Given the description of an element on the screen output the (x, y) to click on. 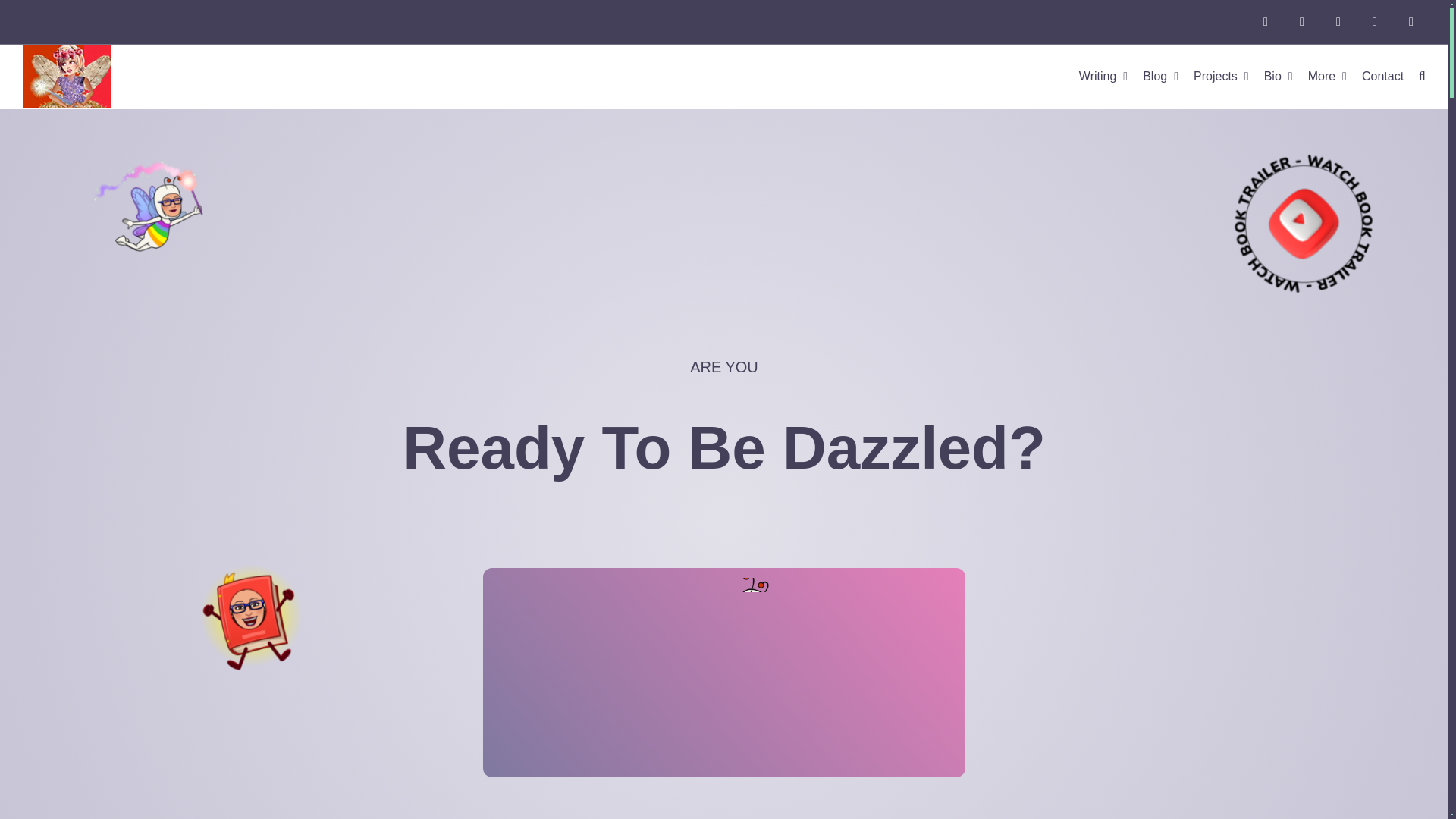
Facebook (1264, 21)
YouTube (1337, 21)
Facebook (1264, 21)
YouTube (1337, 21)
X (1410, 21)
Fairy Reading Books (1209, 608)
LinkedIn (1374, 21)
Fairy Book (247, 617)
Instagram (1301, 21)
Flying Fairy with a Wand (148, 207)
